Given the description of an element on the screen output the (x, y) to click on. 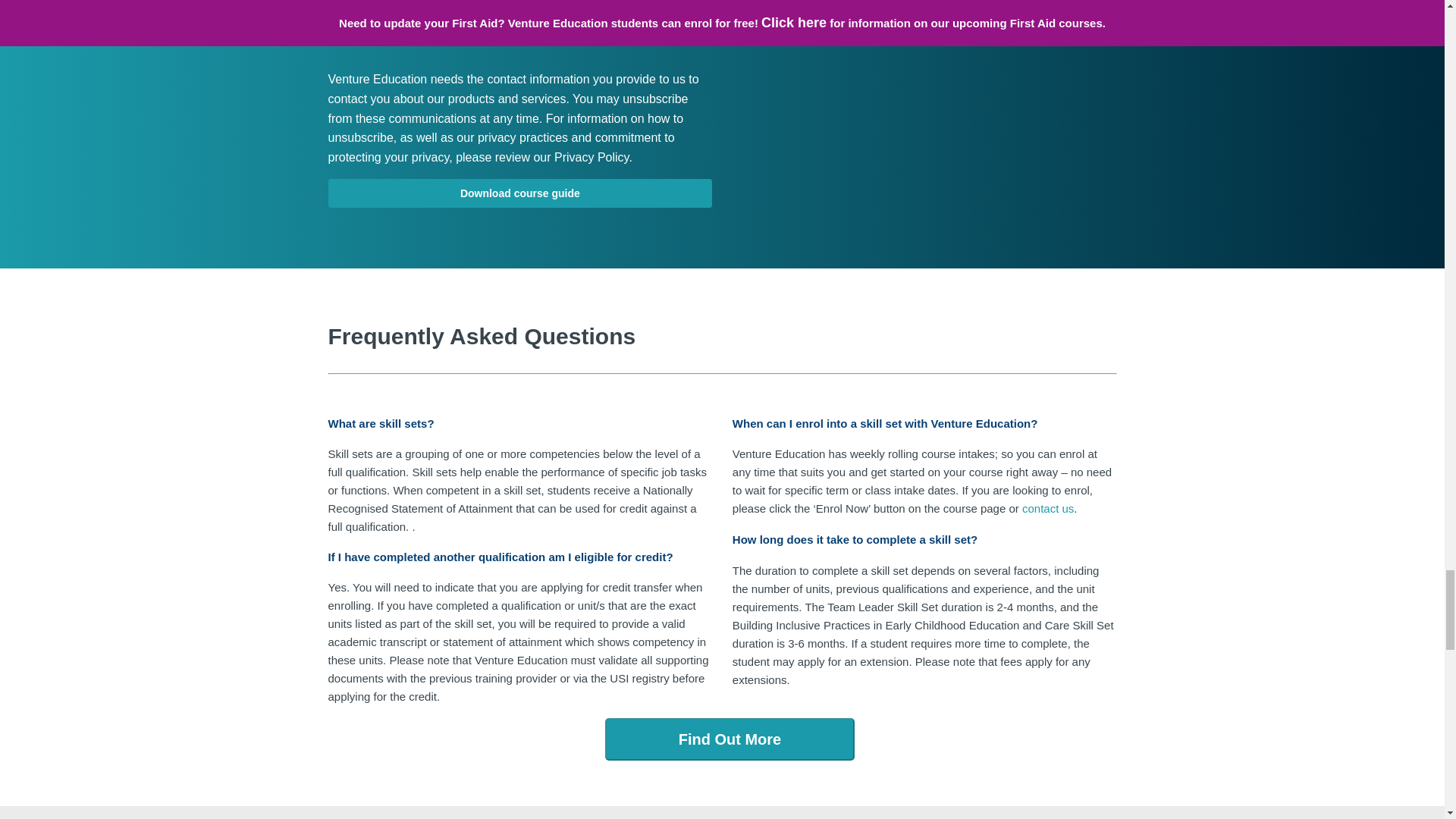
Download course guide (519, 193)
contact us (1048, 508)
Find Out More (725, 739)
Download course guide (519, 193)
Find Out More (729, 739)
